Given the description of an element on the screen output the (x, y) to click on. 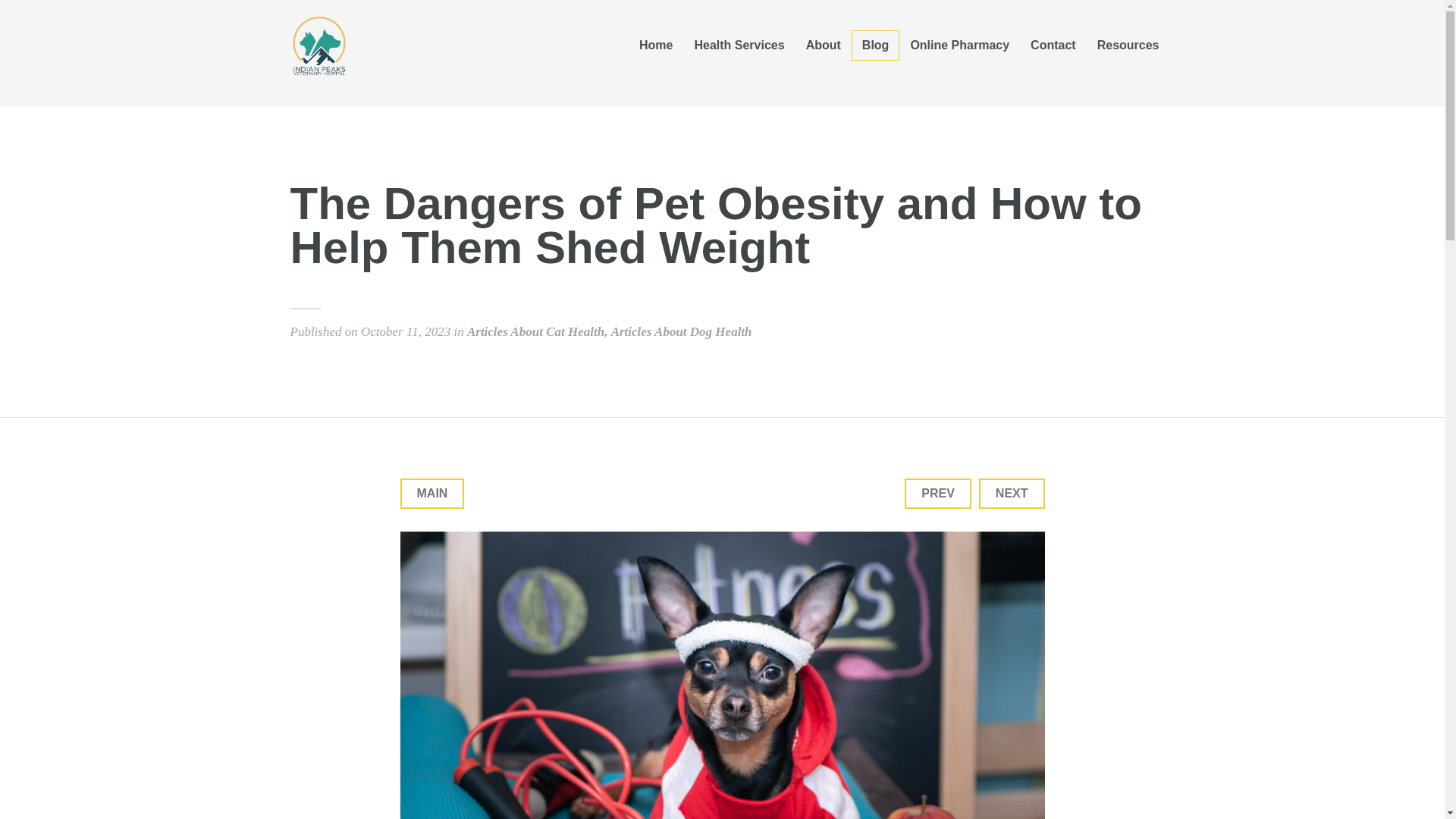
Resources (1128, 45)
Indian Peaks Veterinary Hospital (402, 45)
Articles About Dog Health (681, 331)
Articles About Cat Health (535, 331)
NEXT (1011, 493)
Online Pharmacy (959, 45)
Health Services (738, 45)
PREV (937, 493)
Blog (875, 45)
Contact (1053, 45)
About (822, 45)
Home (655, 45)
MAIN (432, 493)
